Given the description of an element on the screen output the (x, y) to click on. 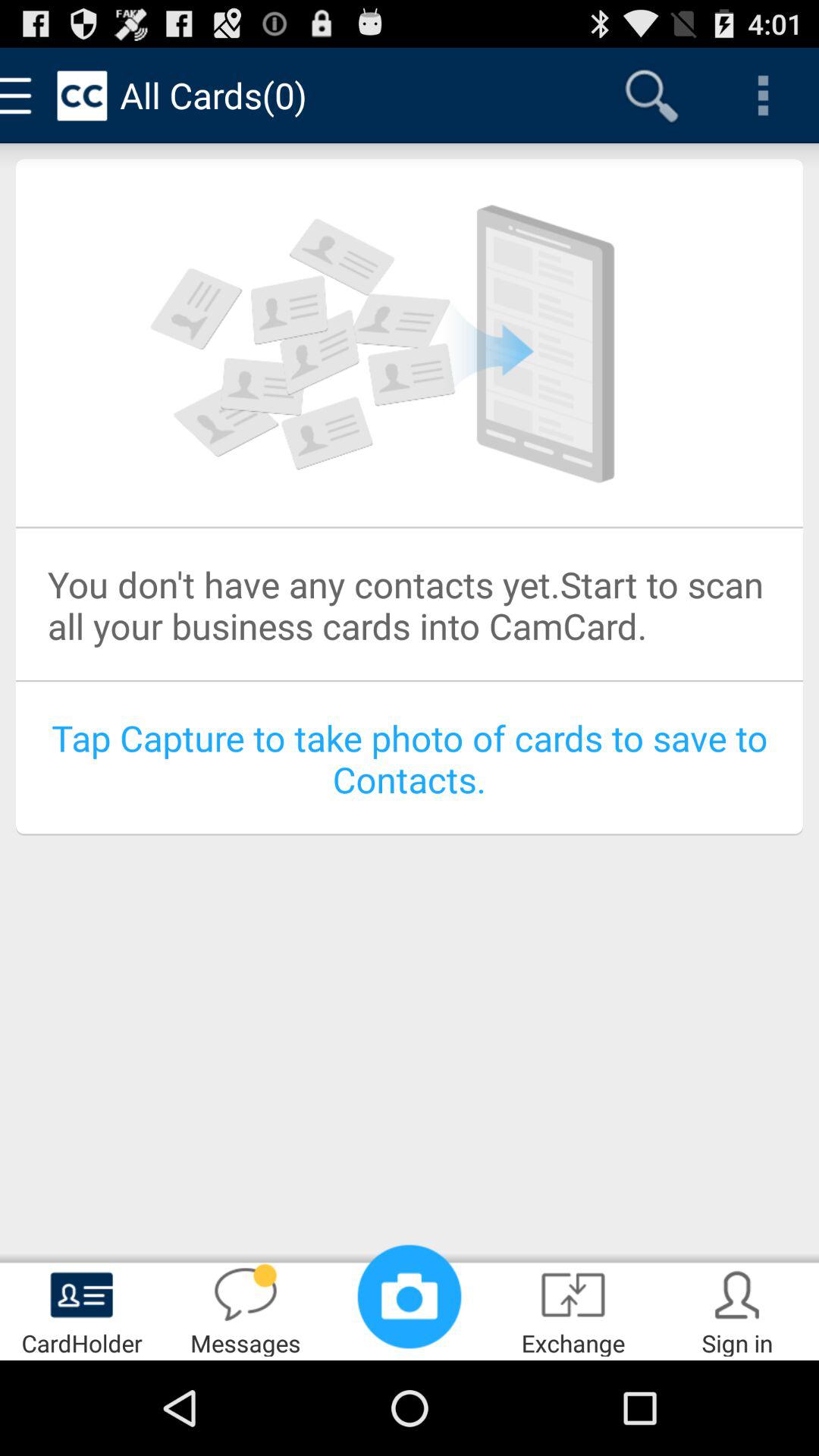
launch app next to exchange item (409, 1296)
